Given the description of an element on the screen output the (x, y) to click on. 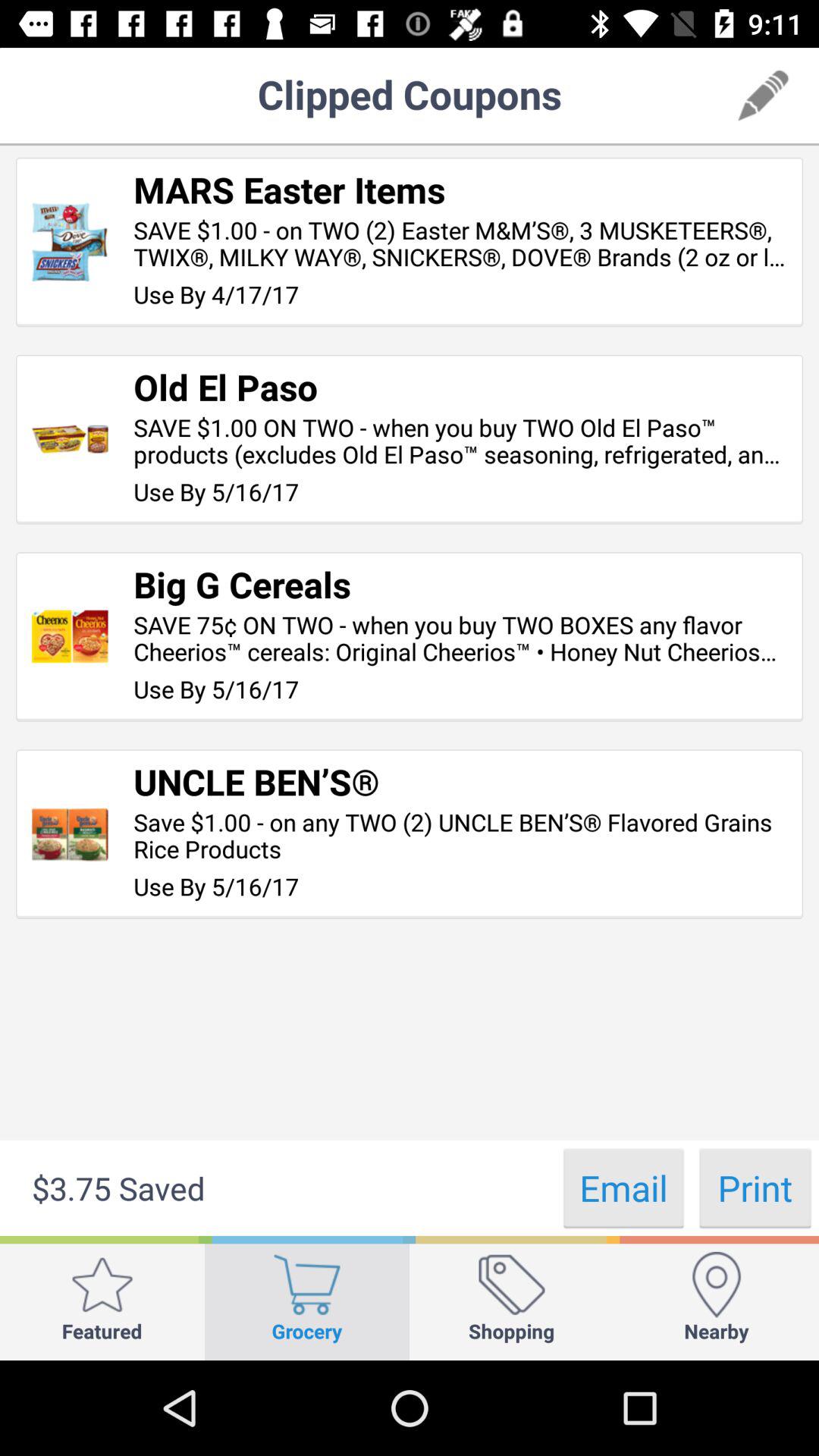
choose item next to the print (623, 1187)
